Given the description of an element on the screen output the (x, y) to click on. 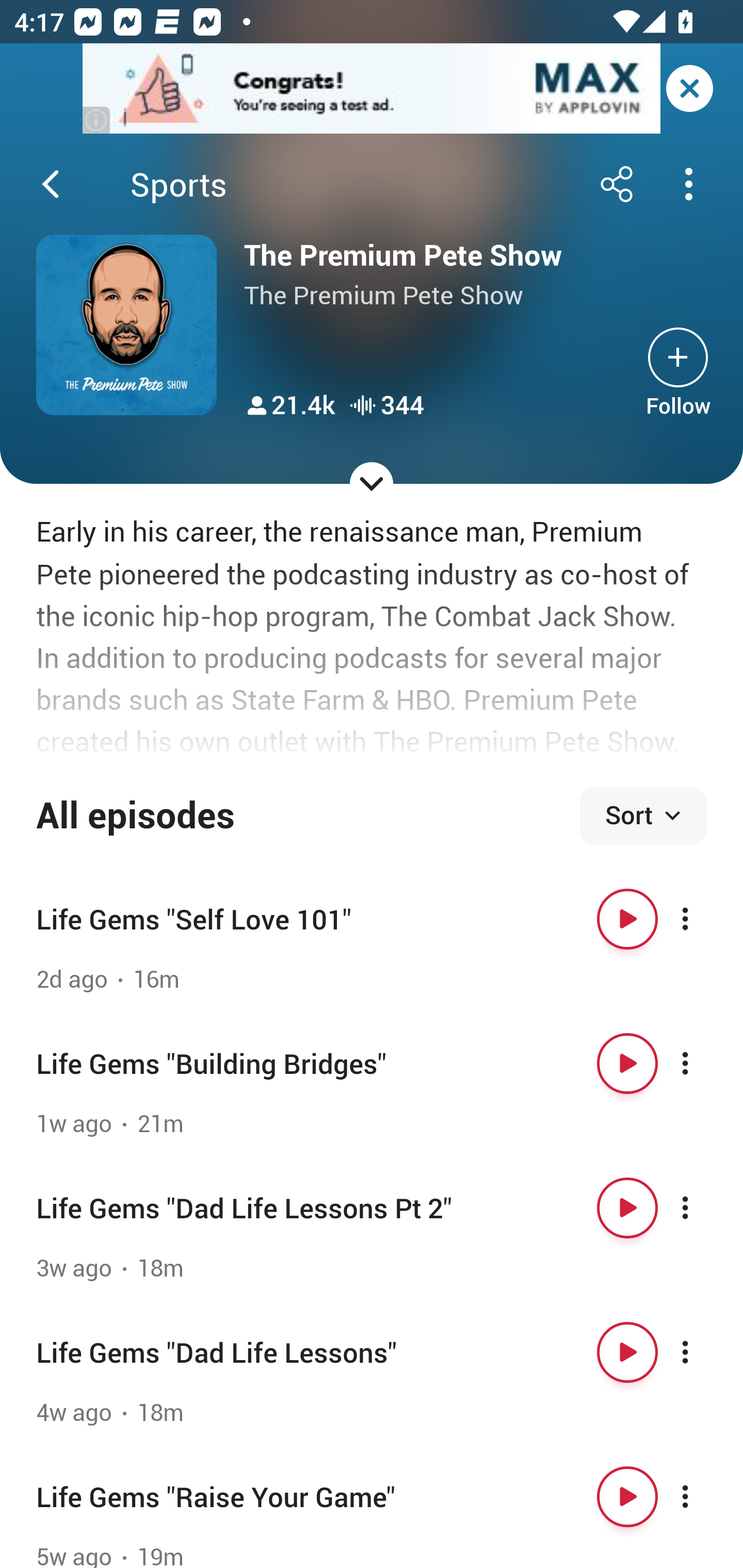
app-monetization (371, 88)
(i) (96, 119)
Back (50, 184)
Subscribe button (677, 357)
Sort episodes Sort (643, 816)
Play button (627, 919)
More options (703, 919)
Play button (627, 1063)
More options (703, 1063)
Play button (627, 1208)
More options (703, 1208)
Play button (627, 1352)
More options (703, 1352)
Play button (627, 1496)
More options (703, 1496)
